Given the description of an element on the screen output the (x, y) to click on. 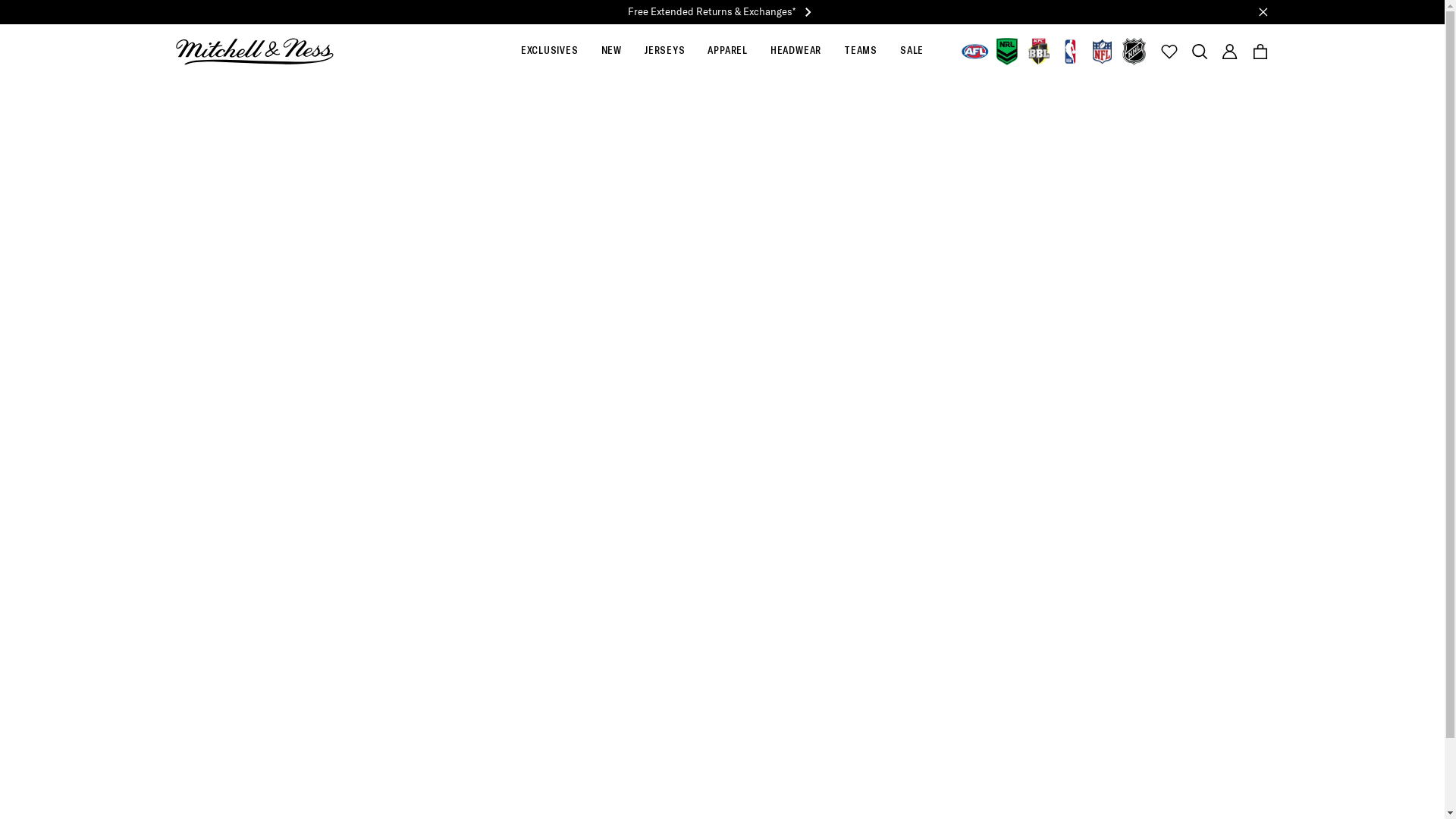
NEW Element type: text (611, 51)
Mitchell & Ness Element type: hover (254, 51)
Your Wishlist Element type: hover (1169, 51)
NBA Jerseys & Teamwear Element type: hover (1070, 51)
Your Cart Element type: hover (1260, 51)
Mitchell & Ness x AFL Element type: hover (974, 51)
NFL Teamwear Element type: hover (1102, 51)
SALE Element type: text (911, 51)
Mitchell & Ness Search Element type: hover (1199, 51)
Account Element type: hover (1229, 51)
NHL Teamwear Element type: hover (1134, 51)
Big Bash League Element type: hover (1038, 51)
NRL - State Of Origin x Mitchell & Ness Element type: hover (1006, 51)
